Given the description of an element on the screen output the (x, y) to click on. 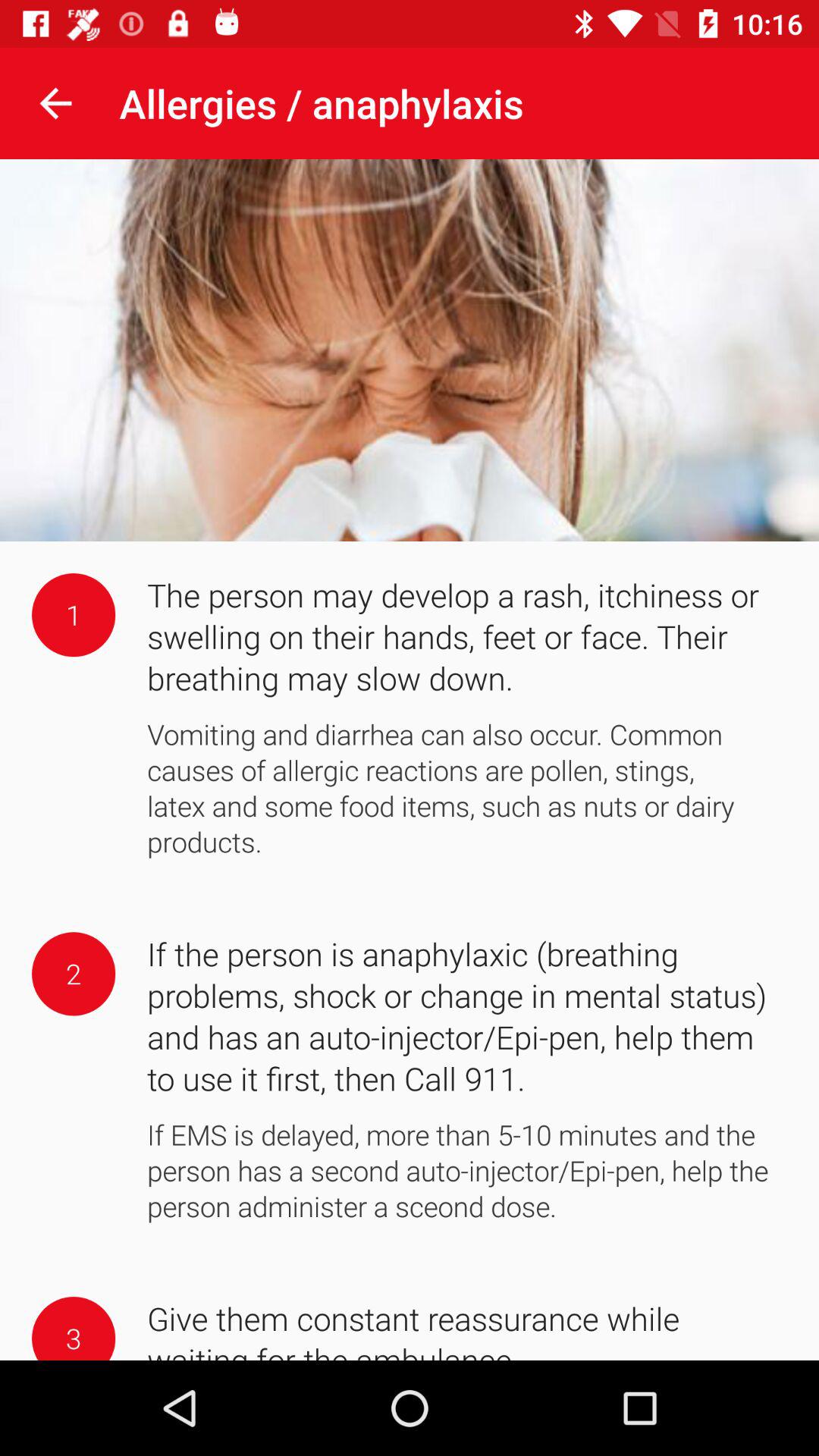
turn off icon at the top left corner (55, 103)
